Given the description of an element on the screen output the (x, y) to click on. 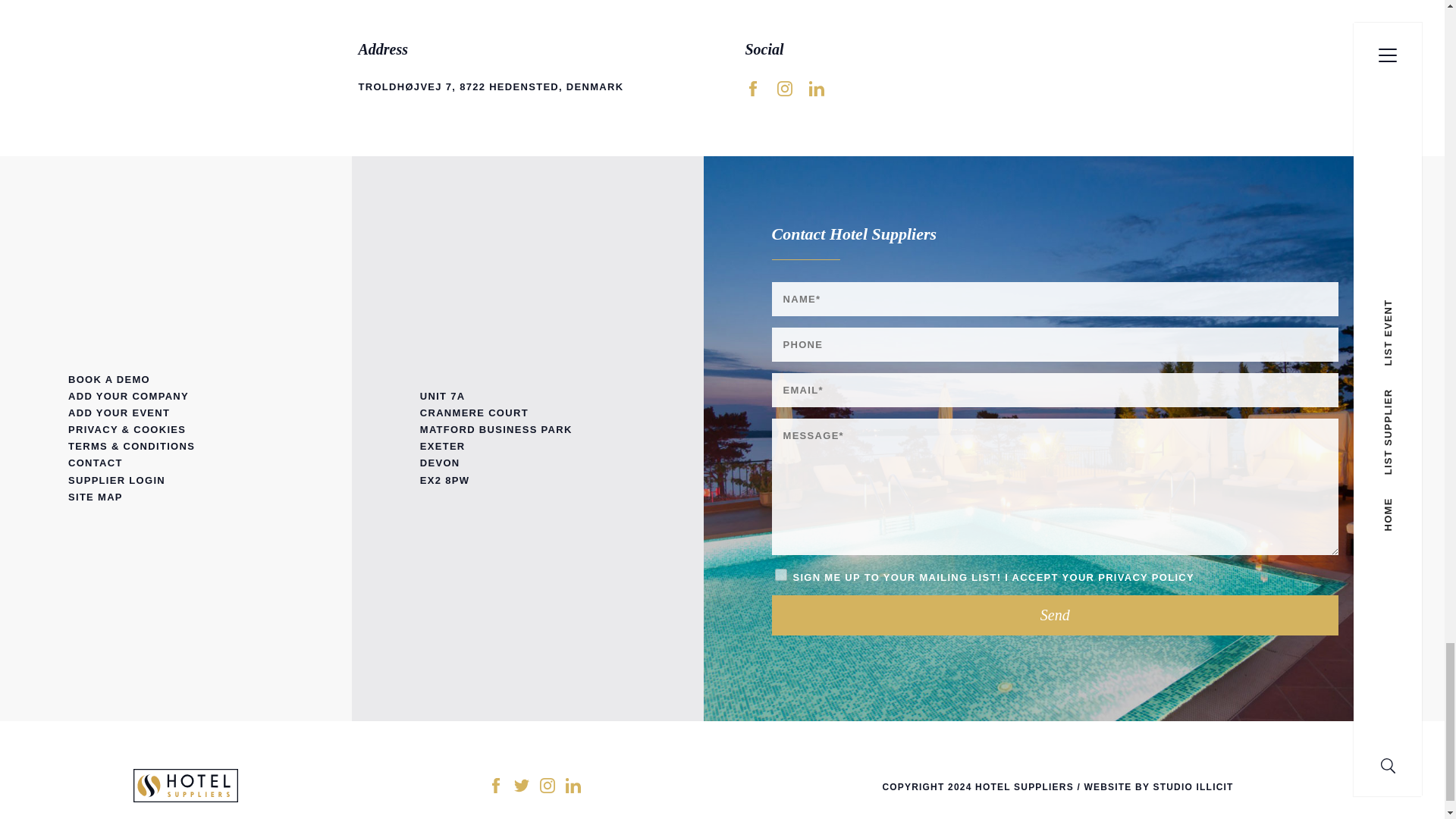
ADD YOUR EVENT (175, 412)
SUPPLIER LOGIN (175, 480)
BOOK A DEMO (175, 379)
Send (1055, 615)
ADD YOUR COMPANY (175, 396)
Send (1055, 615)
CONTACT (175, 463)
SITE MAP (175, 497)
